Given the description of an element on the screen output the (x, y) to click on. 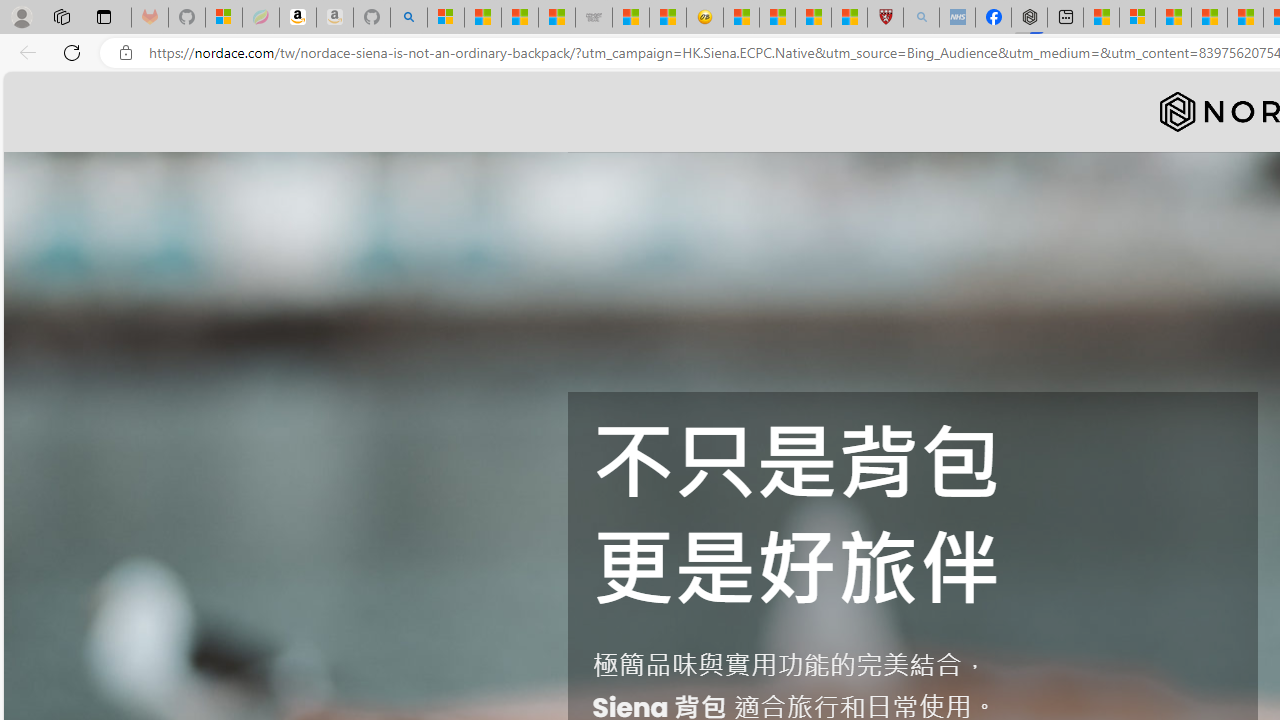
Fitness - MSN (1245, 17)
